Given the description of an element on the screen output the (x, y) to click on. 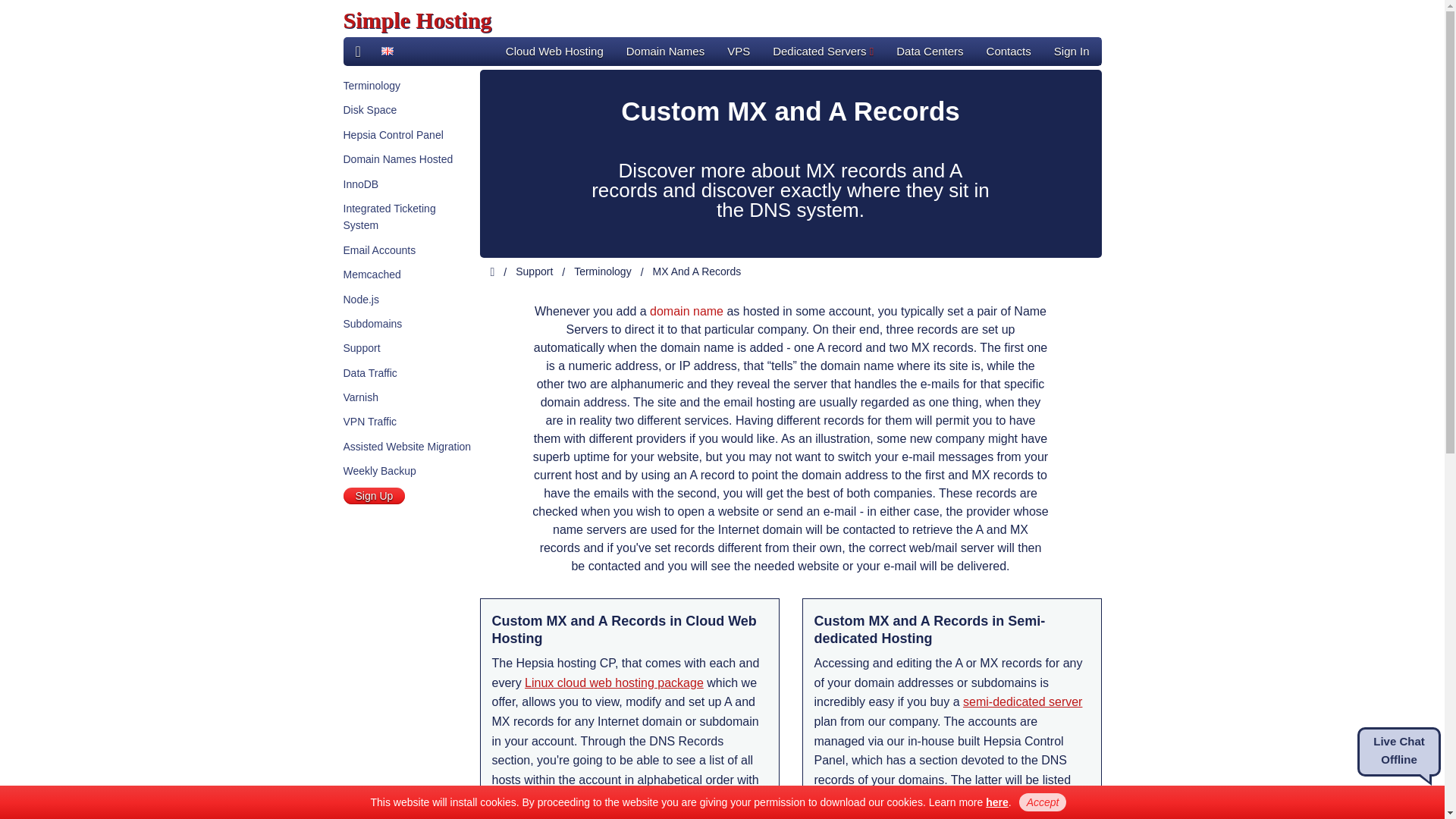
Assisted Website Migration (406, 446)
Cloud Web Hosting (554, 51)
Simple Hosting (417, 19)
Node.js (360, 299)
Linux cloud web hosting packages (613, 682)
Memcached (371, 274)
Subdomains (371, 323)
Terminology (370, 85)
VPS (738, 51)
Domain Names Hosted (397, 159)
Domain Names (665, 51)
InnoDB (360, 184)
Dedicated Servers (823, 51)
Contacts (1008, 51)
Sign Up (373, 495)
